Given the description of an element on the screen output the (x, y) to click on. 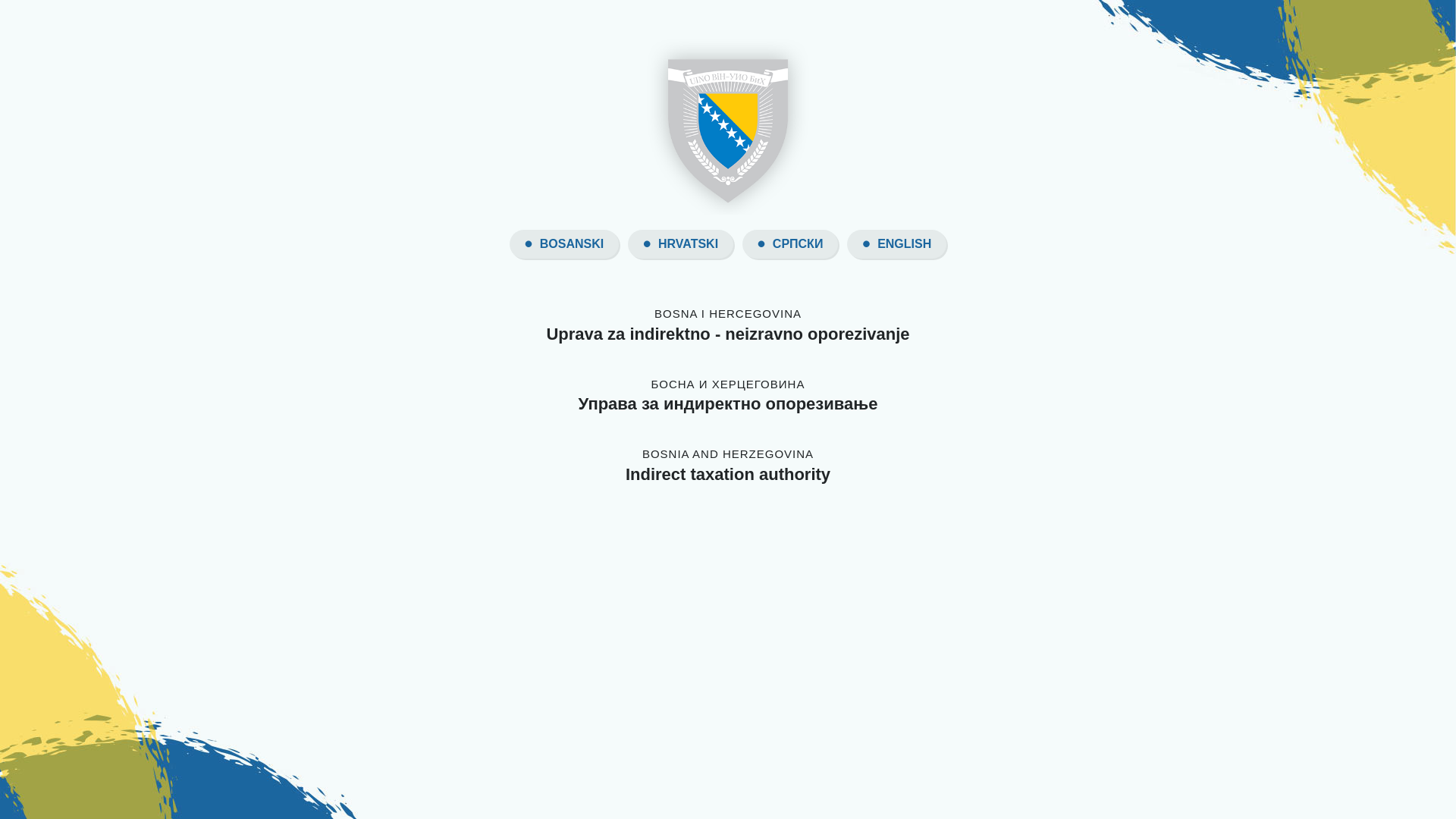
BOSANSKI Element type: text (571, 244)
ENGLISH Element type: text (904, 244)
HRVATSKI Element type: text (688, 244)
